Given the description of an element on the screen output the (x, y) to click on. 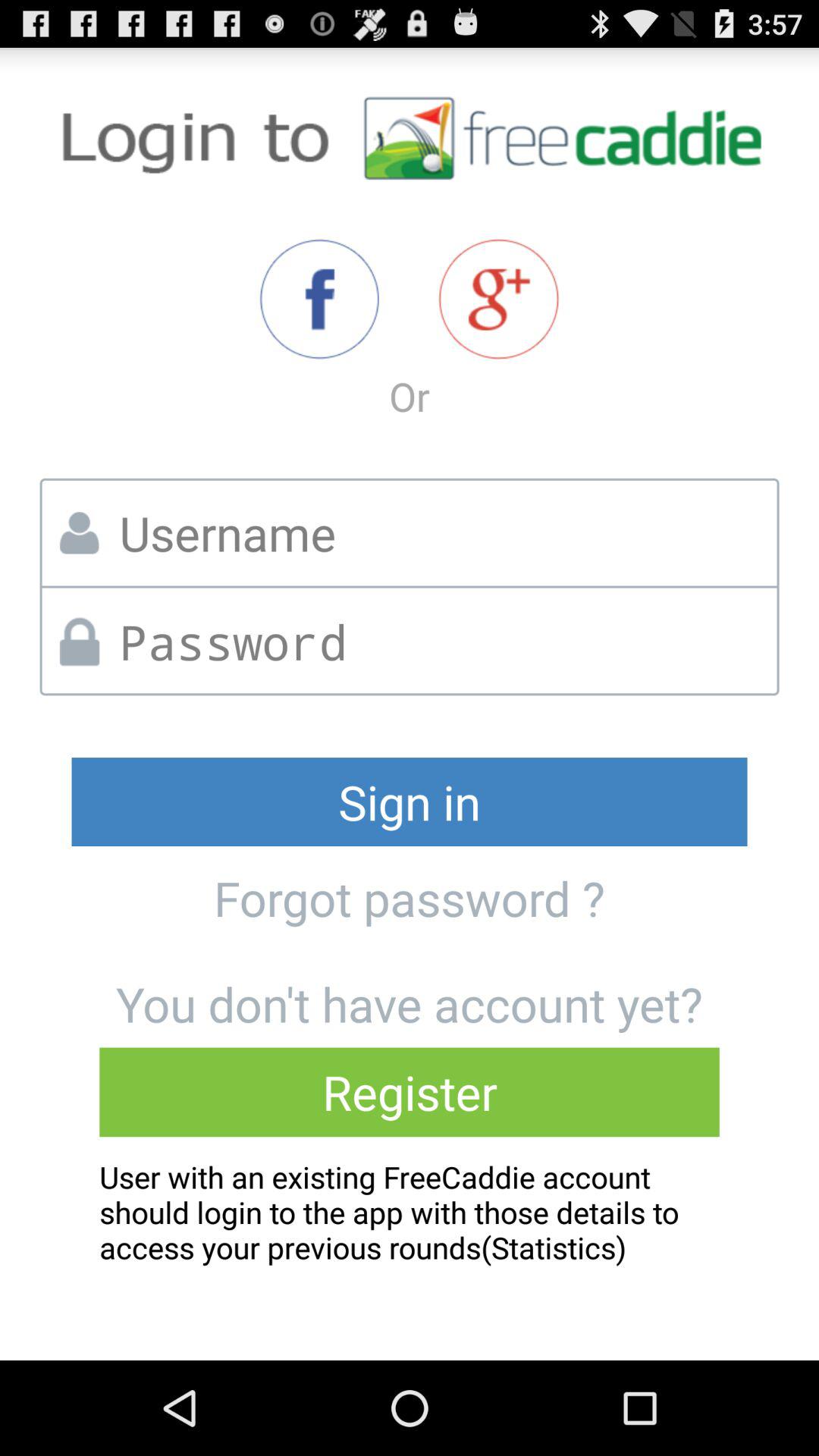
share the article (498, 298)
